Given the description of an element on the screen output the (x, y) to click on. 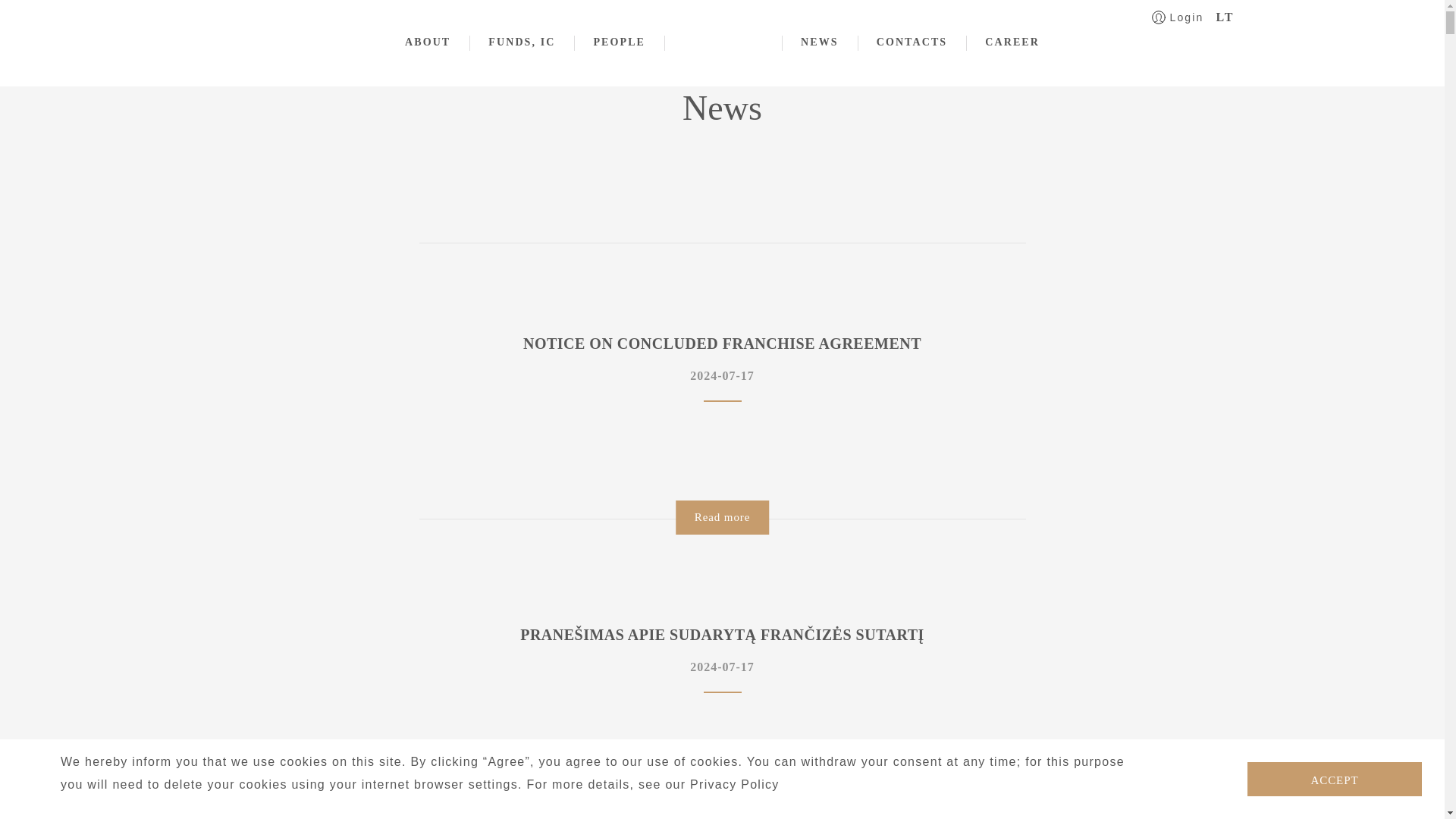
ABOUT (426, 41)
Login (716, 9)
CONTACTS (911, 41)
NEWS (819, 41)
Read more (722, 517)
CAREER (1012, 41)
PEOPLE (618, 41)
FUNDS, IC (520, 41)
For more details, see our Privacy Policy (652, 784)
Login (721, 413)
Read more (722, 805)
ACCEPT (1334, 779)
LT (1224, 16)
LORDS LB ASSET MANAGEMENT (724, 41)
